Given the description of an element on the screen output the (x, y) to click on. 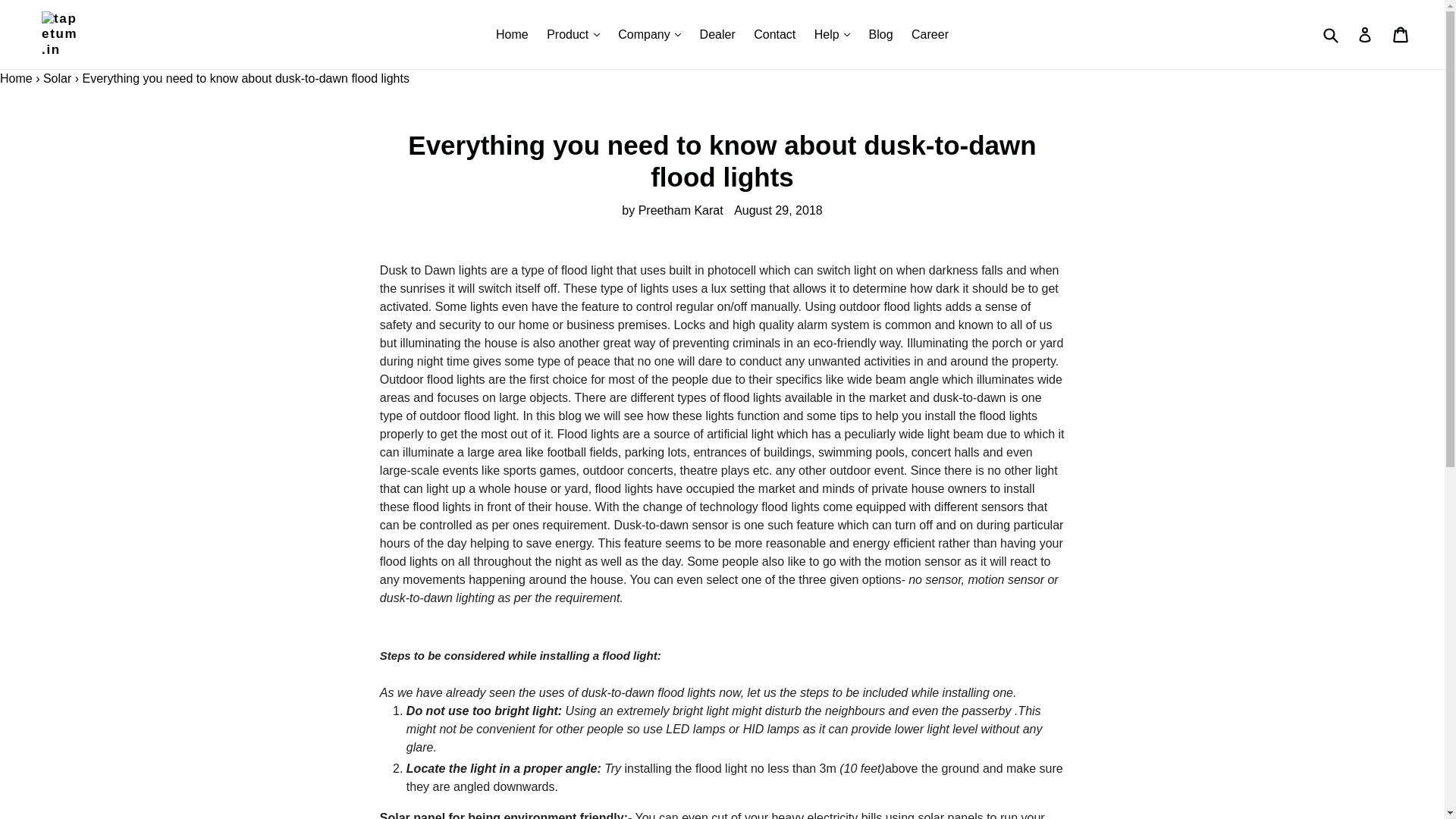
Dealer (717, 34)
Contact (774, 34)
Home (511, 34)
